Given the description of an element on the screen output the (x, y) to click on. 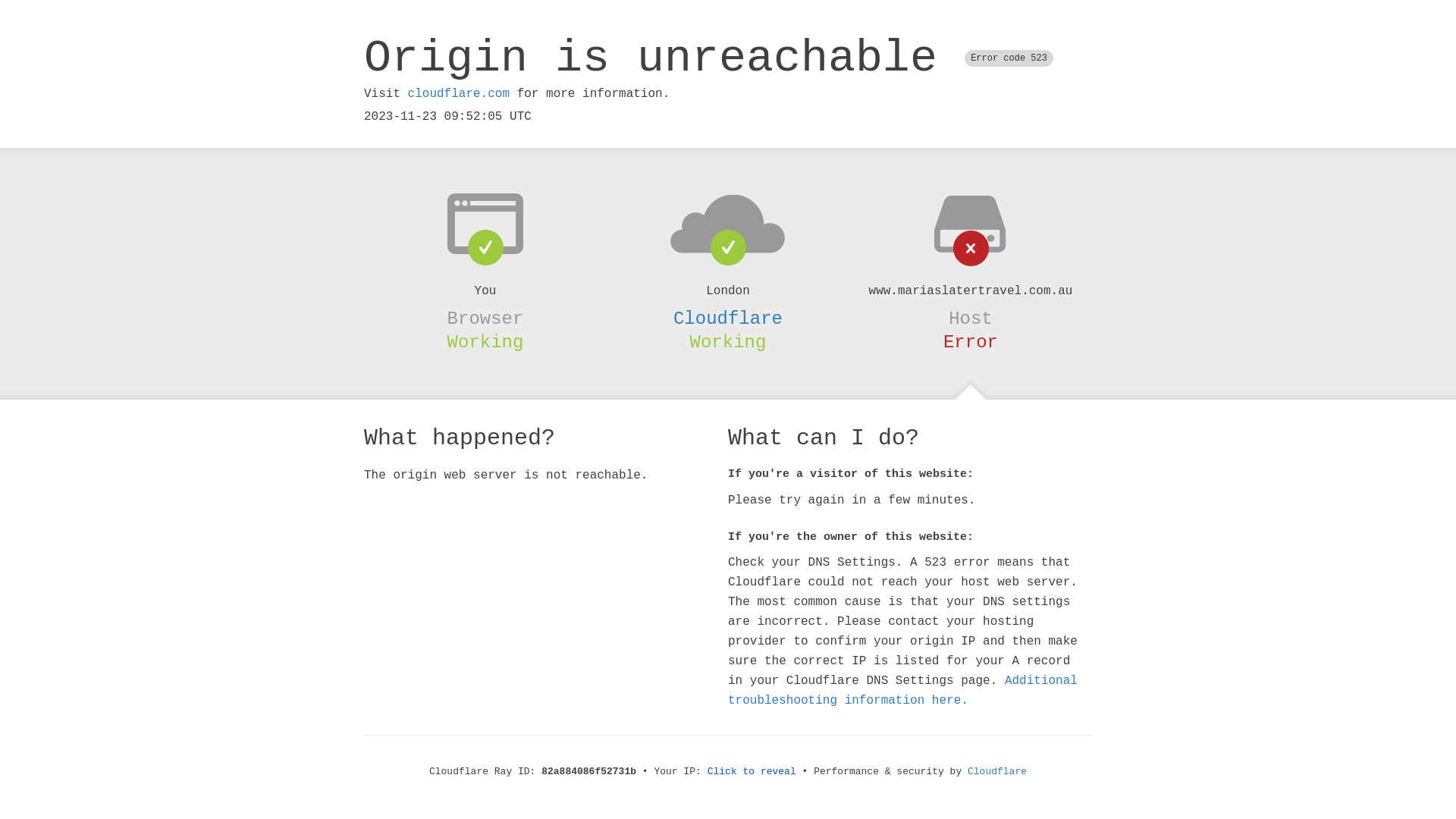
Click to reveal Element type: text (751, 771)
Cloudflare Element type: text (996, 771)
cloudflare.com Element type: text (458, 93)
Additional troubleshooting information here. Element type: text (902, 690)
Cloudflare Element type: text (727, 318)
